Given the description of an element on the screen output the (x, y) to click on. 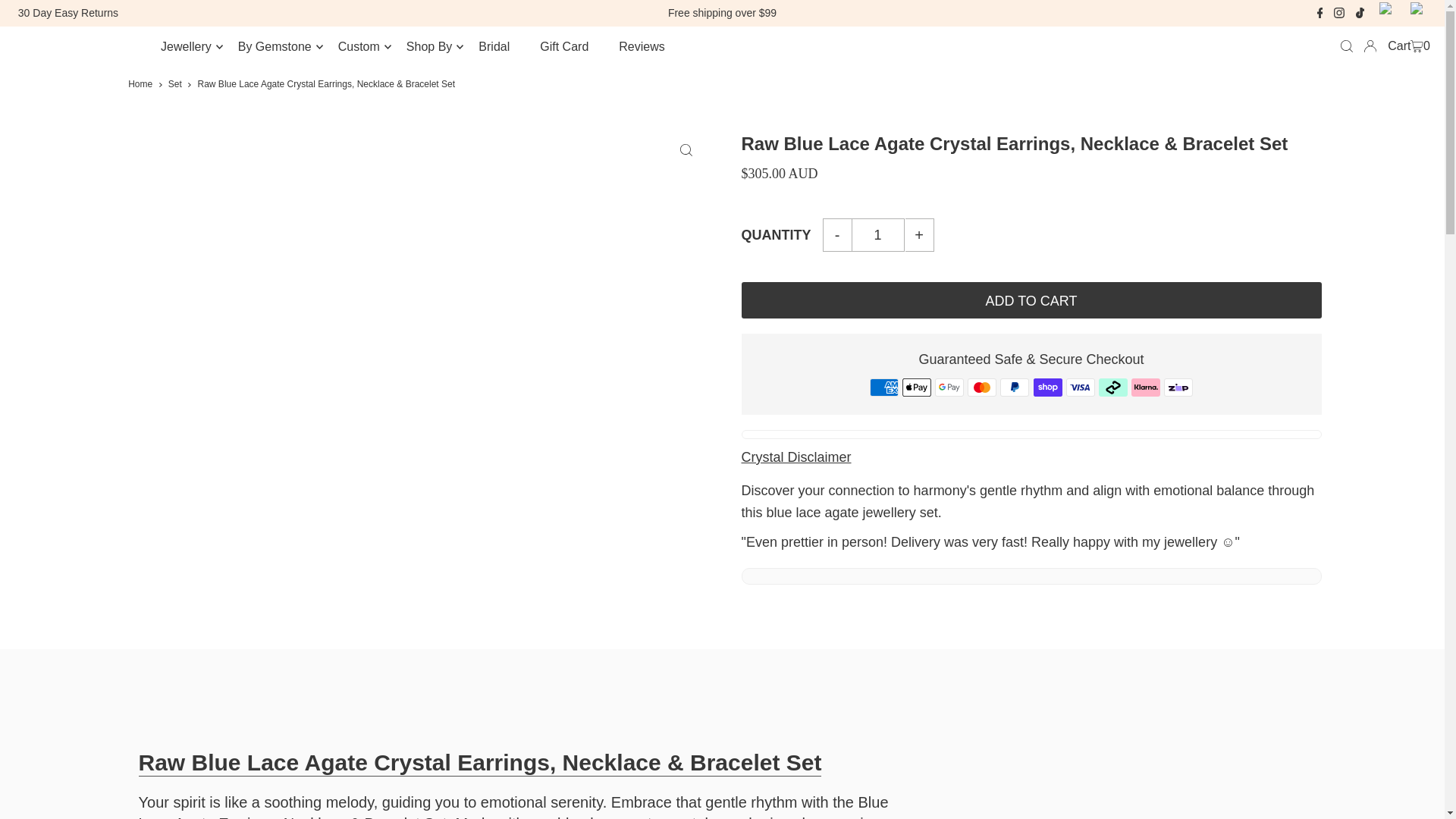
Home (140, 83)
Add to Cart (1031, 299)
1 (877, 234)
Google Pay (948, 387)
Set (175, 83)
Apple Pay (916, 387)
30 Day Easy Returns (67, 12)
Click to zoom (685, 150)
American Express (883, 387)
